Given the description of an element on the screen output the (x, y) to click on. 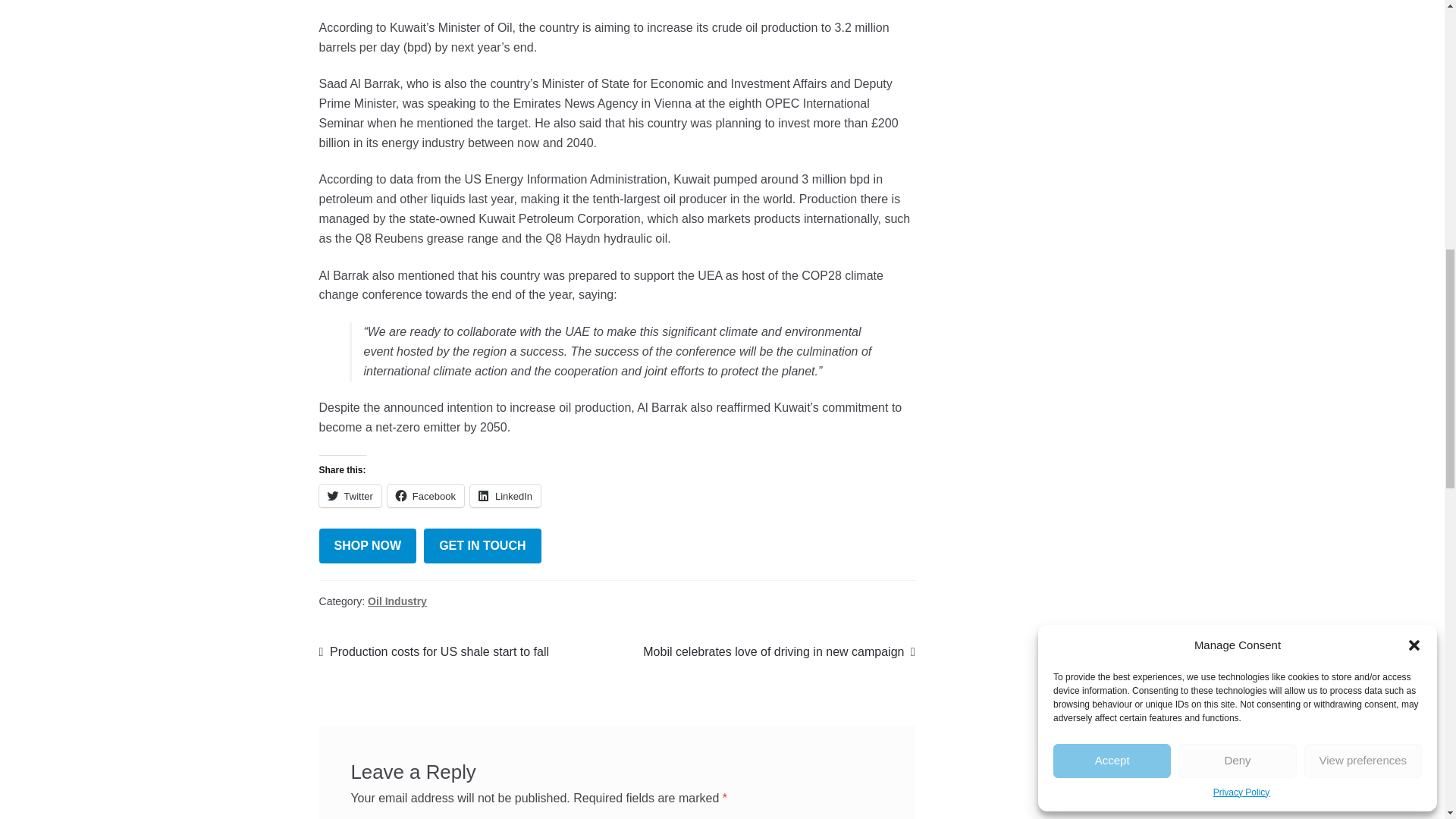
Click to share on Twitter (349, 495)
Click to share on Facebook (425, 495)
Click to share on LinkedIn (505, 495)
